Given the description of an element on the screen output the (x, y) to click on. 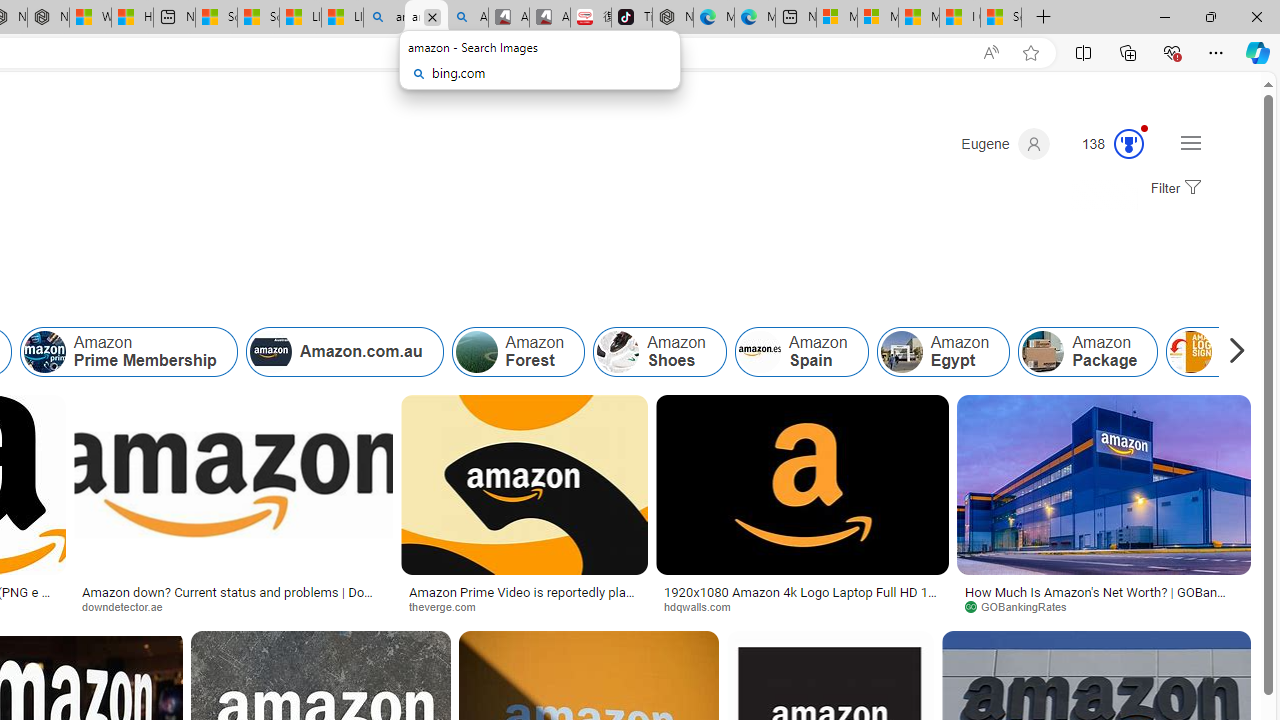
Class: medal-circled (1129, 143)
Settings and quick links (1190, 142)
Eugene (1005, 143)
Amazon down? Current status and problems | Downdetector (233, 598)
TikTok (631, 17)
Amazon Shoes (618, 351)
Image result for amazon (1103, 485)
GOBankingRates (1023, 605)
amazon - Search Images (425, 17)
